Given the description of an element on the screen output the (x, y) to click on. 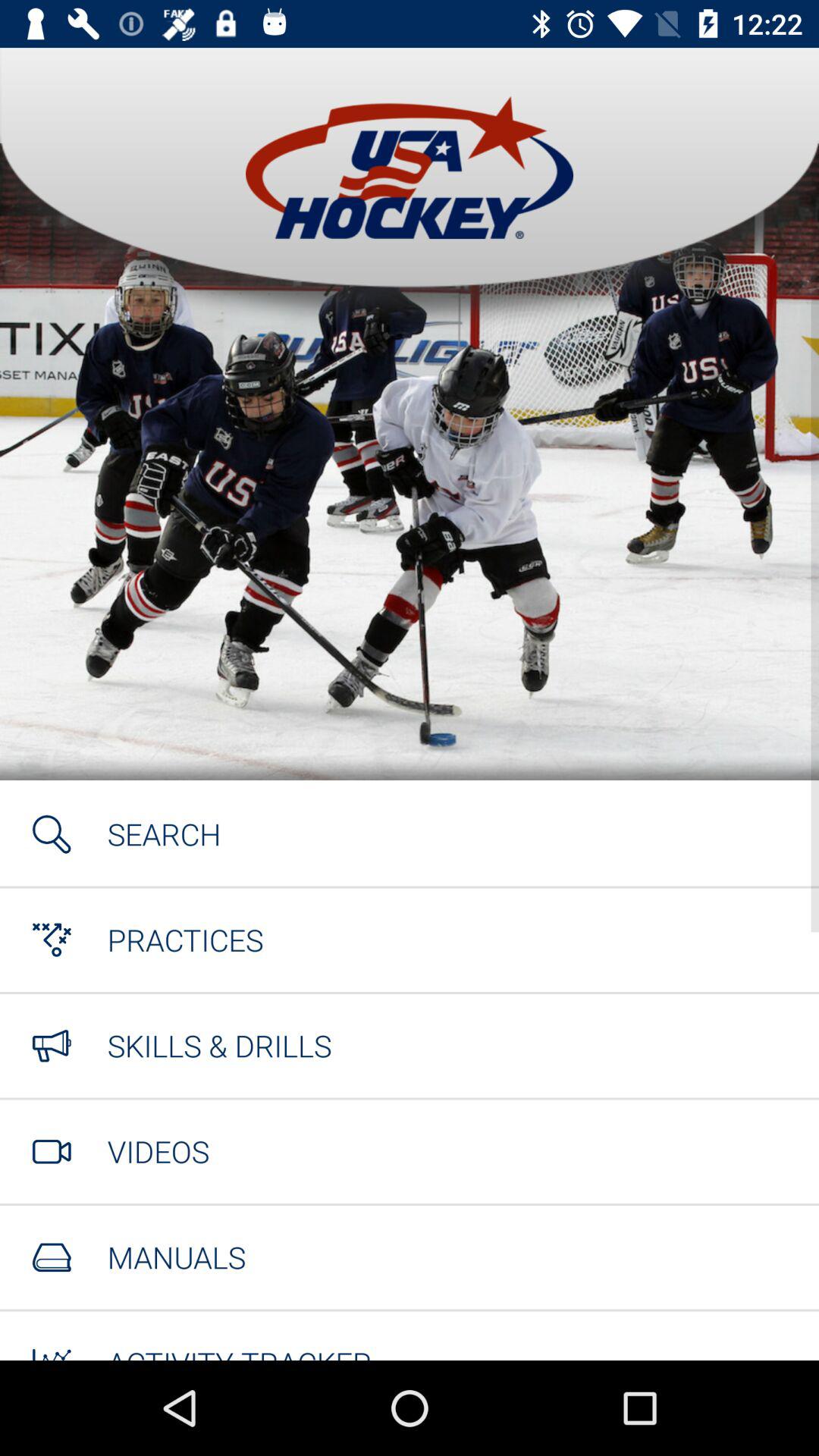
tap skills & drills icon (219, 1045)
